Given the description of an element on the screen output the (x, y) to click on. 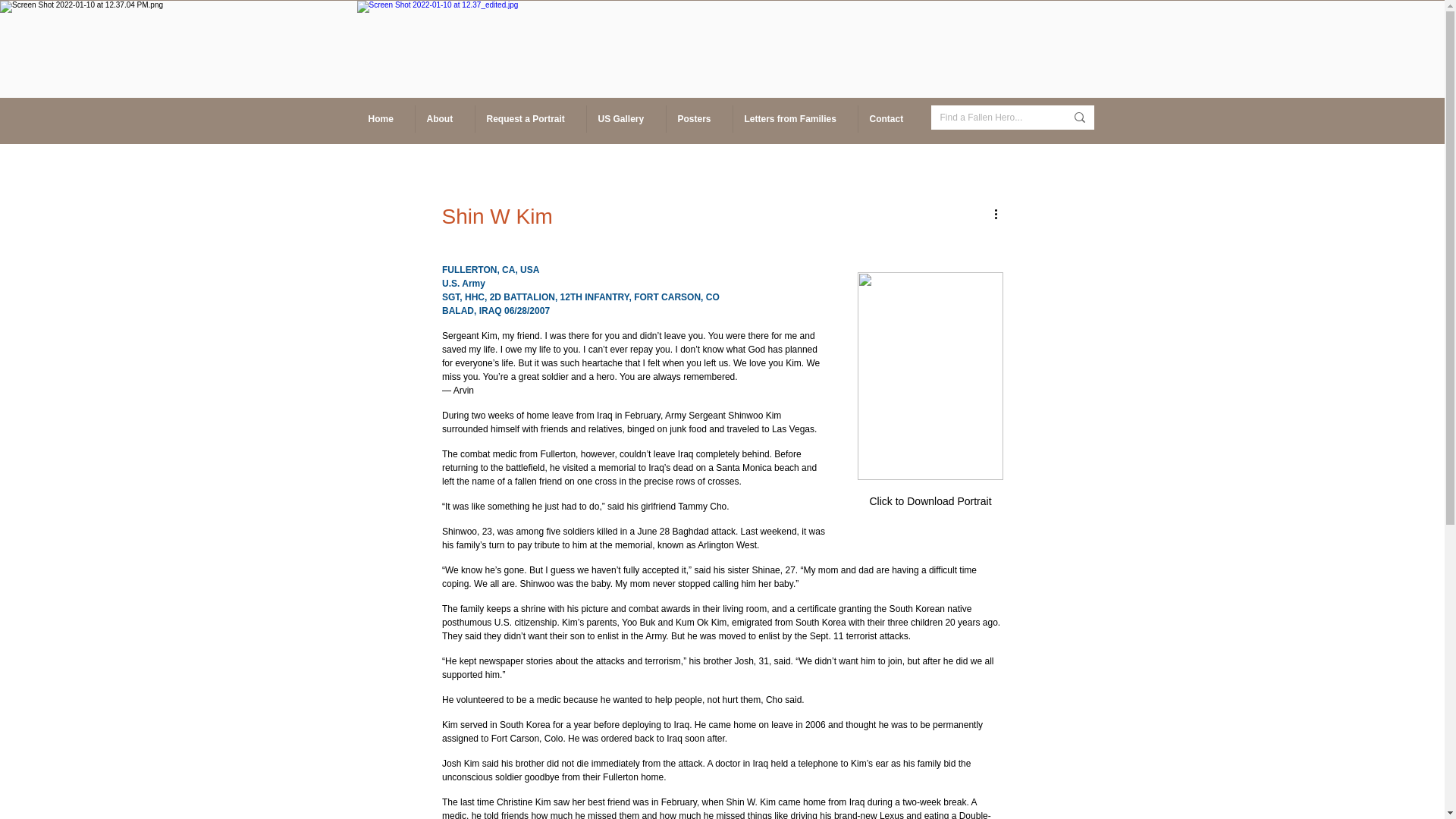
Request a Portrait (530, 118)
US Gallery (625, 118)
Posters (698, 118)
Home (384, 118)
About (443, 118)
Letters from Families (794, 118)
Contact (890, 118)
